Given the description of an element on the screen output the (x, y) to click on. 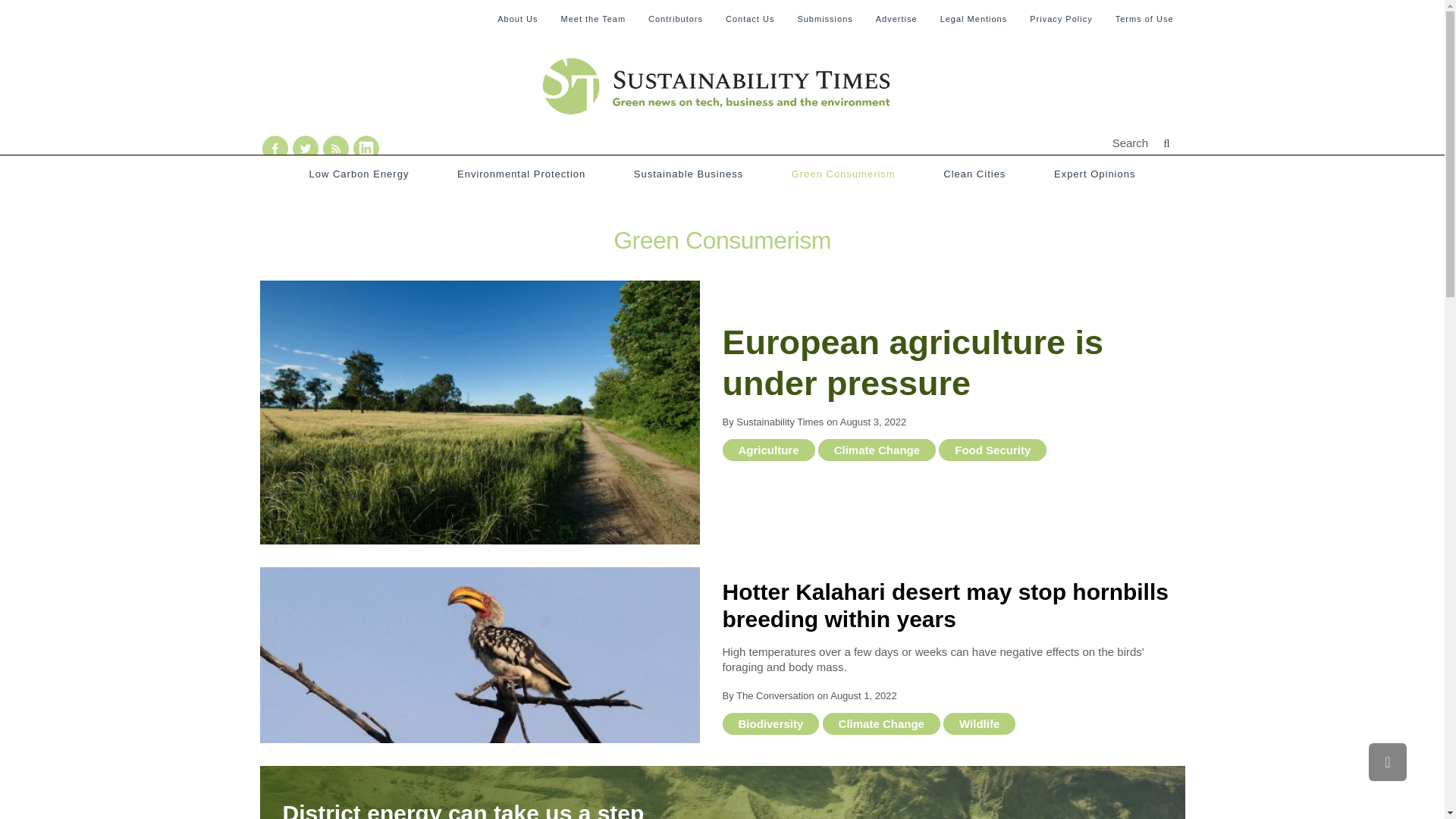
Sustainable Business (687, 173)
About Us (517, 18)
Scroll to top (1387, 761)
Facebook (275, 148)
Expert Opinions (1094, 173)
Advertise (896, 18)
Low Carbon Energy (358, 173)
Meet the Team (593, 18)
Posts by The Conversation (774, 695)
